Given the description of an element on the screen output the (x, y) to click on. 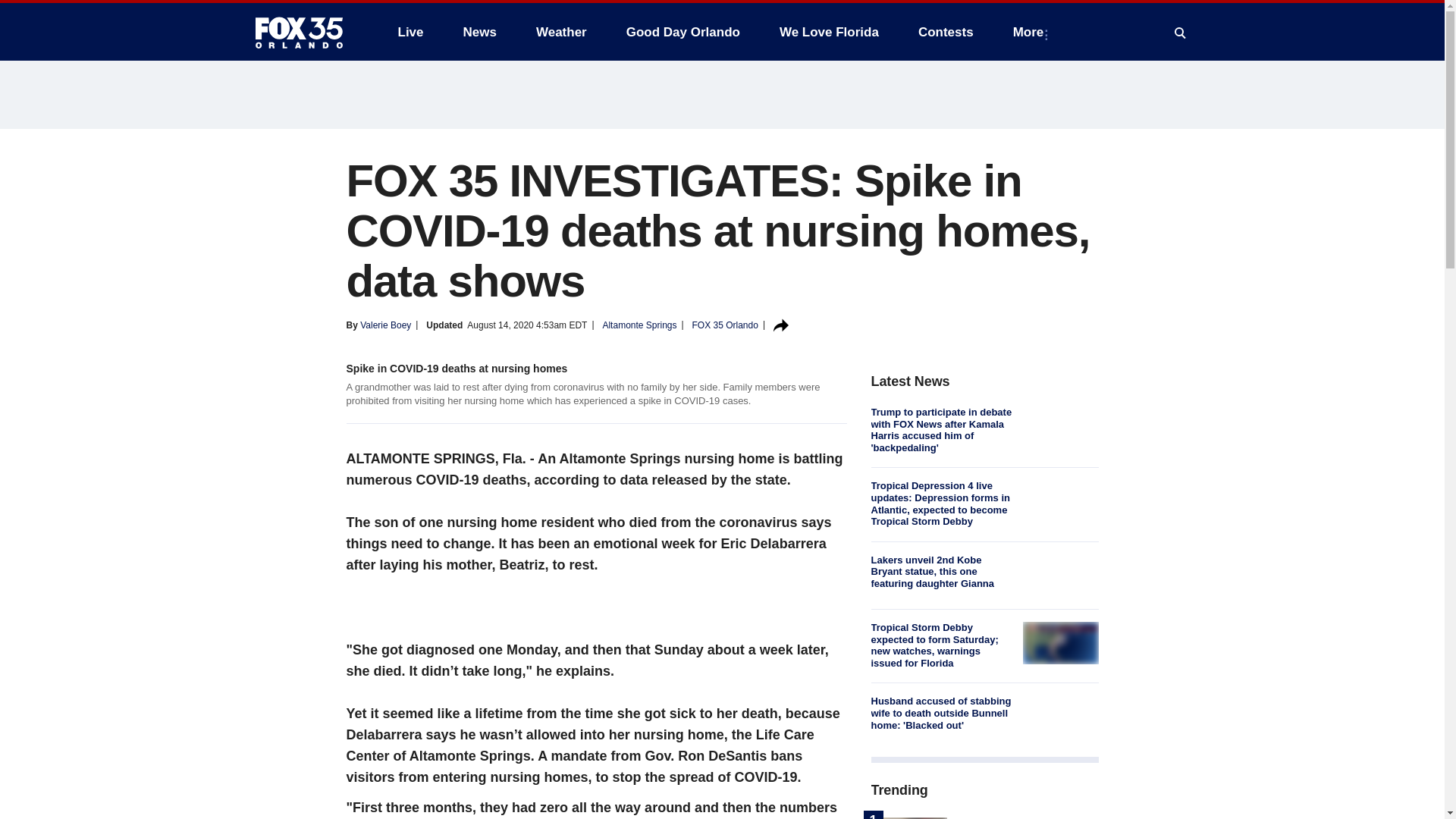
We Love Florida (829, 32)
News (479, 32)
Weather (561, 32)
Good Day Orlando (683, 32)
Live (410, 32)
Contests (945, 32)
More (1031, 32)
